Given the description of an element on the screen output the (x, y) to click on. 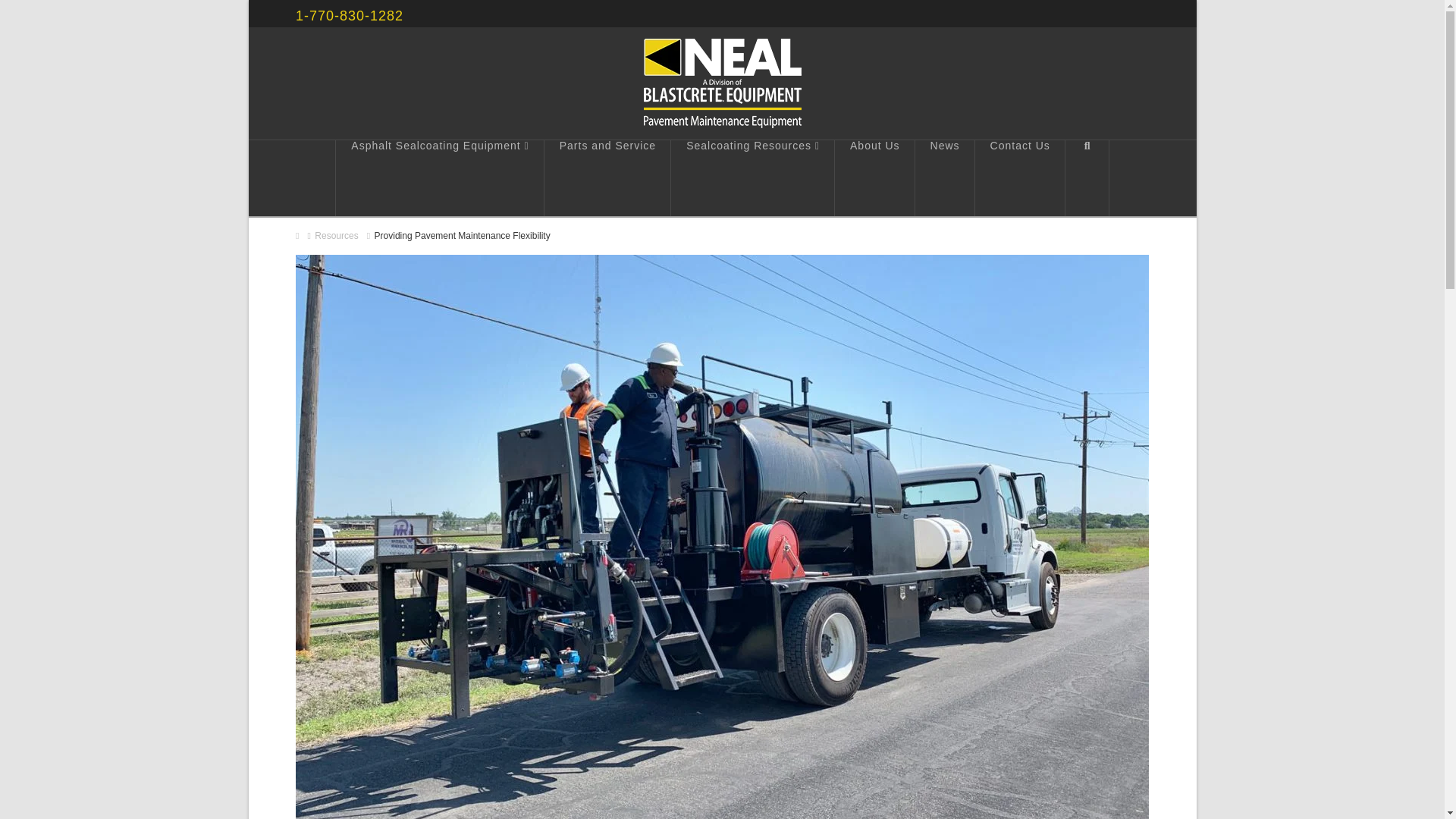
Contact Us (1020, 178)
Parts and Service (607, 178)
Asphalt Sealcoating Equipment (438, 178)
Resources (336, 236)
1-770-830-1282 (349, 15)
You Are Here (462, 236)
Providing Pavement Maintenance Flexibility (462, 236)
About Us (874, 178)
Sealcoating Resources (752, 178)
